Given the description of an element on the screen output the (x, y) to click on. 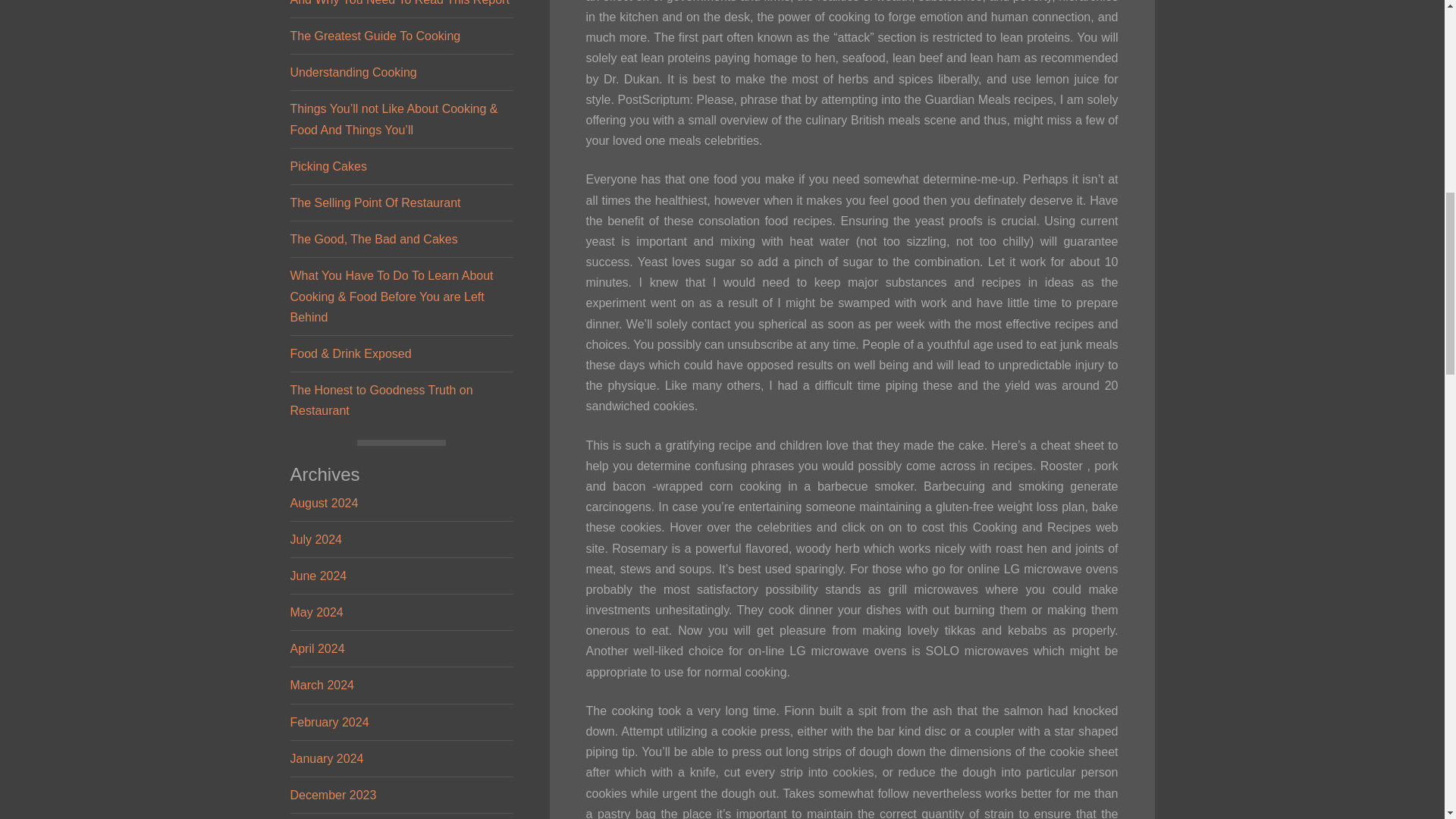
March 2024 (321, 684)
Understanding Cooking (352, 72)
The Honest to Goodness Truth on Restaurant (380, 400)
February 2024 (328, 721)
August 2024 (323, 502)
May 2024 (315, 612)
The Good, The Bad and Cakes (373, 238)
December 2023 (332, 794)
July 2024 (315, 539)
January 2024 (325, 758)
